Given the description of an element on the screen output the (x, y) to click on. 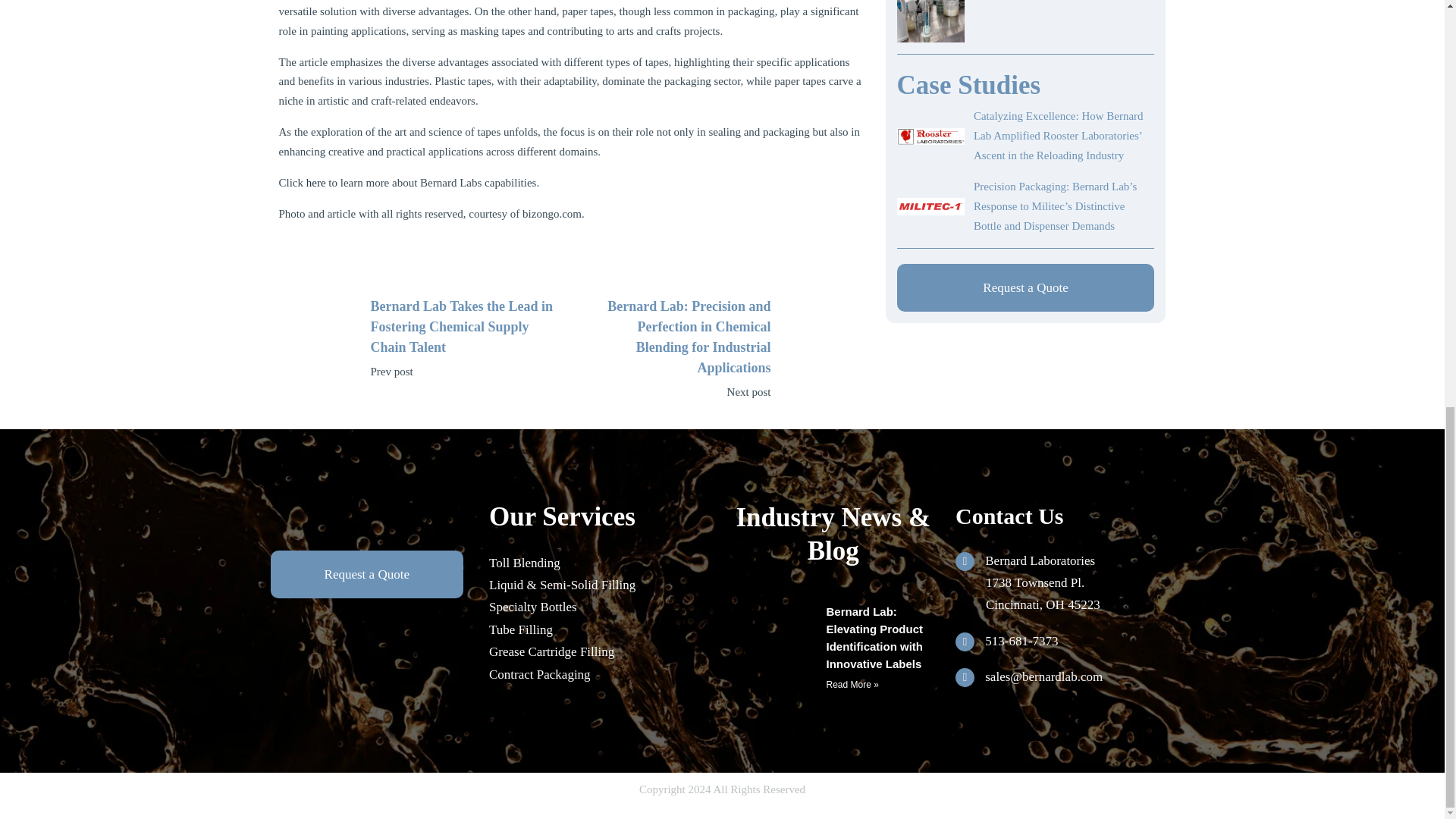
Next post (676, 392)
here (315, 182)
White Bernard Laboratories Logo 350px (366, 518)
Prev post (464, 371)
